Given the description of an element on the screen output the (x, y) to click on. 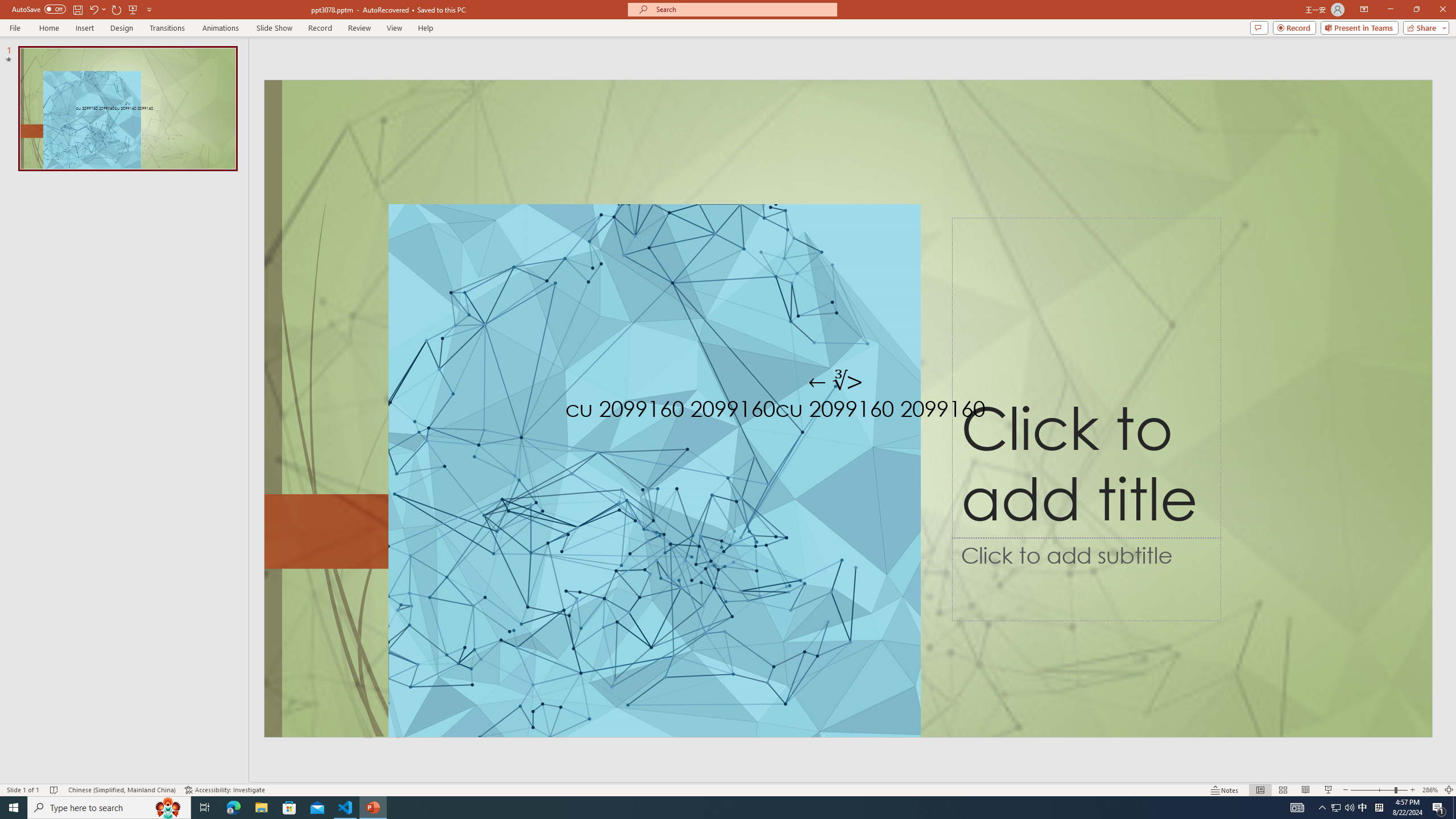
Microsoft search (742, 9)
Zoom 286% (1430, 790)
